Given the description of an element on the screen output the (x, y) to click on. 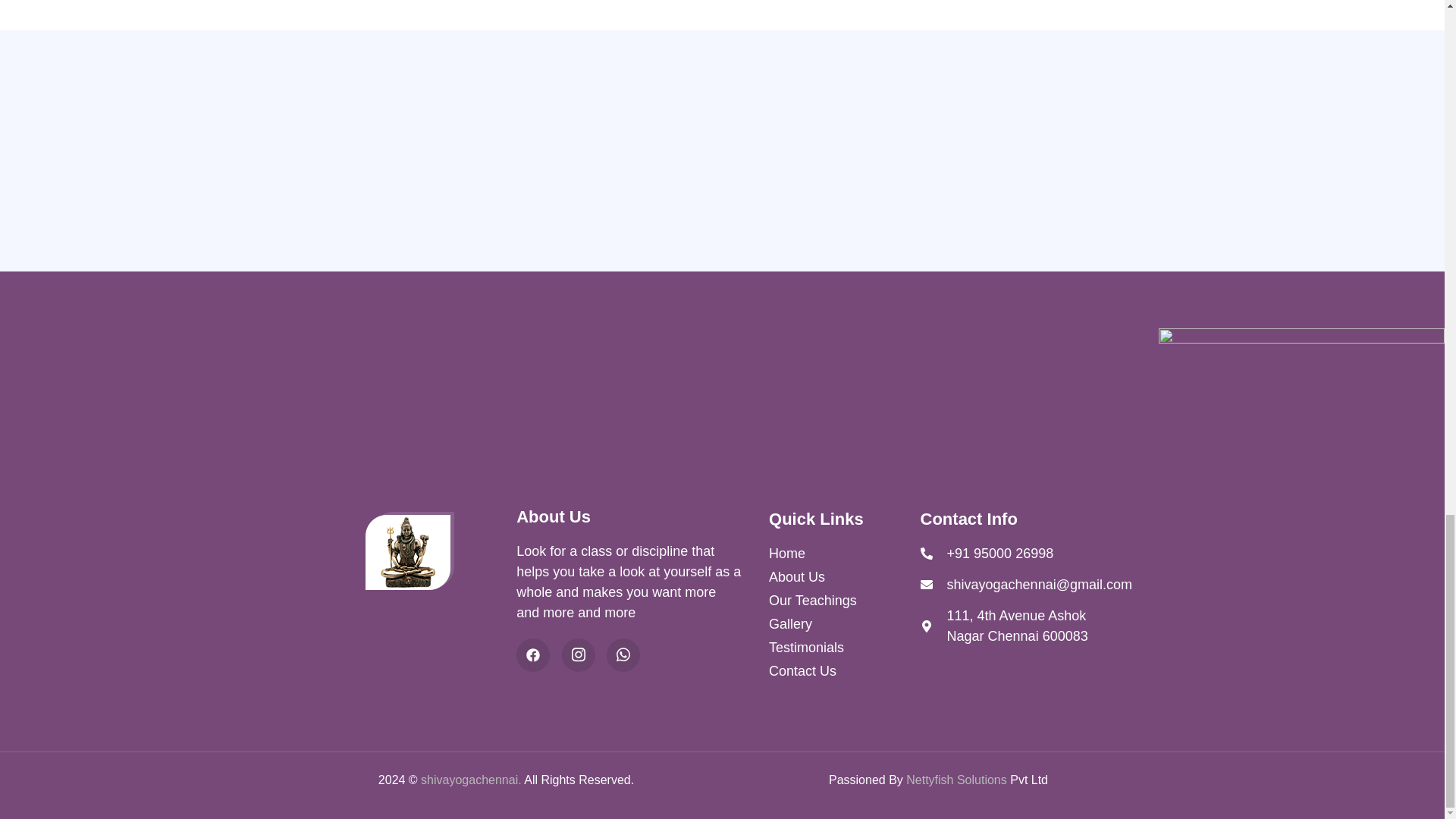
Home (844, 553)
About Us (844, 577)
Our Teachings (844, 600)
